Given the description of an element on the screen output the (x, y) to click on. 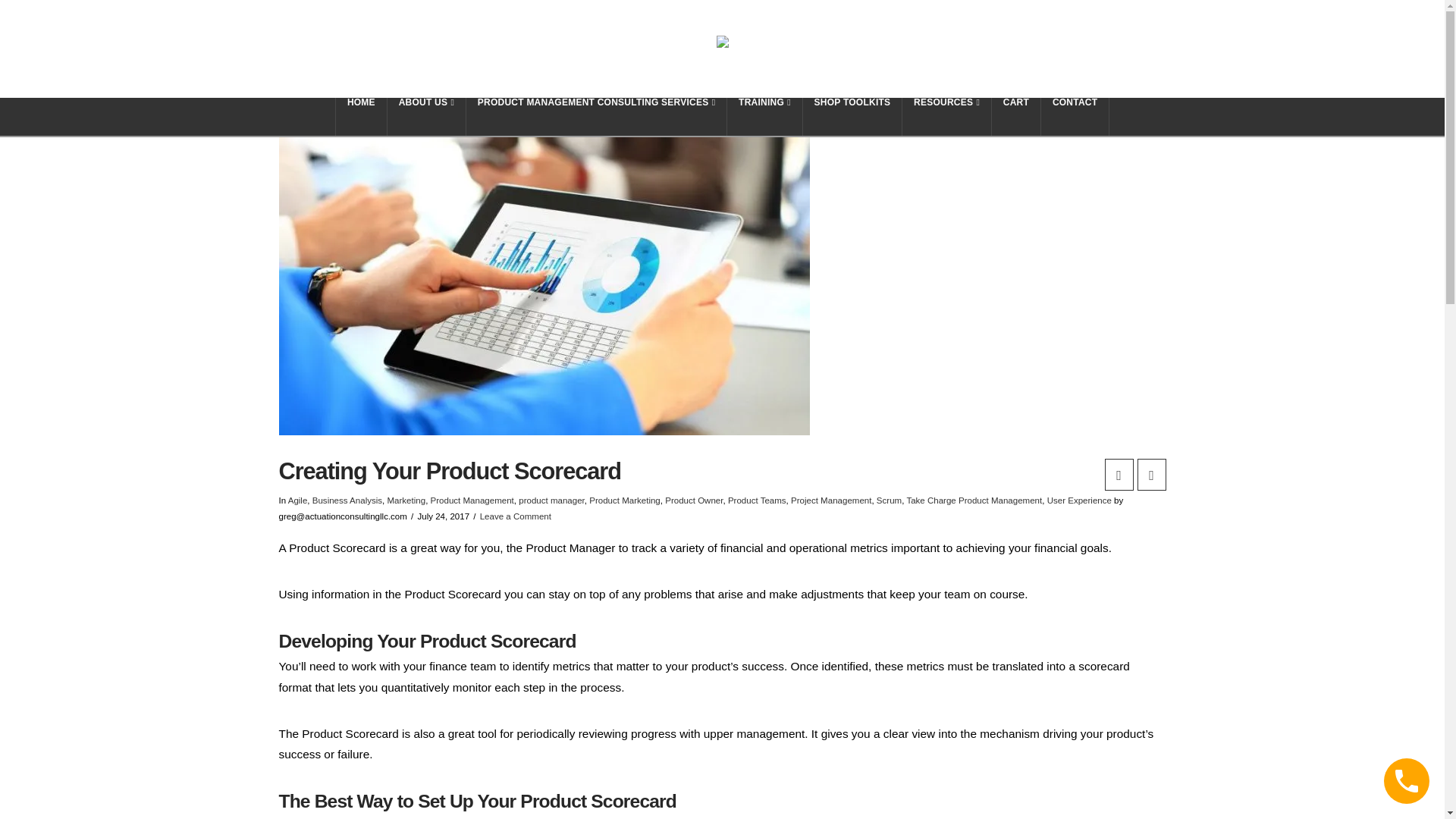
CART (1016, 116)
ABOUT US (426, 116)
RESOURCES (946, 116)
TRAINING (764, 116)
HOME (360, 116)
PRODUCT MANAGEMENT CONSULTING SERVICES (595, 116)
CONTACT (1075, 116)
SHOP TOOLKITS (852, 116)
